Given the description of an element on the screen output the (x, y) to click on. 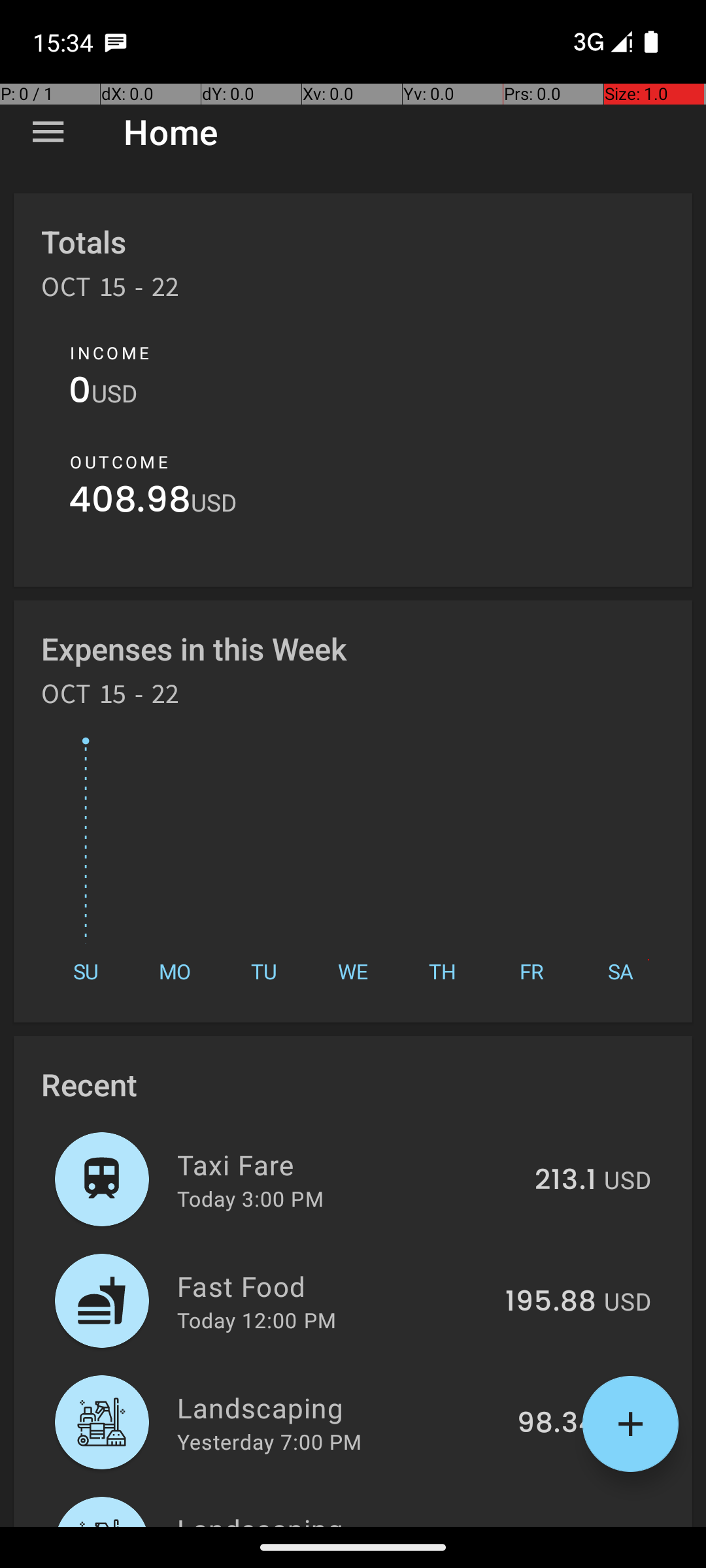
408.98 Element type: android.widget.TextView (129, 502)
Taxi Fare Element type: android.widget.TextView (348, 1164)
Today 3:00 PM Element type: android.widget.TextView (250, 1198)
213.1 Element type: android.widget.TextView (565, 1180)
Fast Food Element type: android.widget.TextView (333, 1285)
Today 12:00 PM Element type: android.widget.TextView (256, 1320)
195.88 Element type: android.widget.TextView (550, 1301)
Landscaping Element type: android.widget.TextView (339, 1407)
Yesterday 7:00 PM Element type: android.widget.TextView (269, 1441)
98.34 Element type: android.widget.TextView (556, 1423)
